Given the description of an element on the screen output the (x, y) to click on. 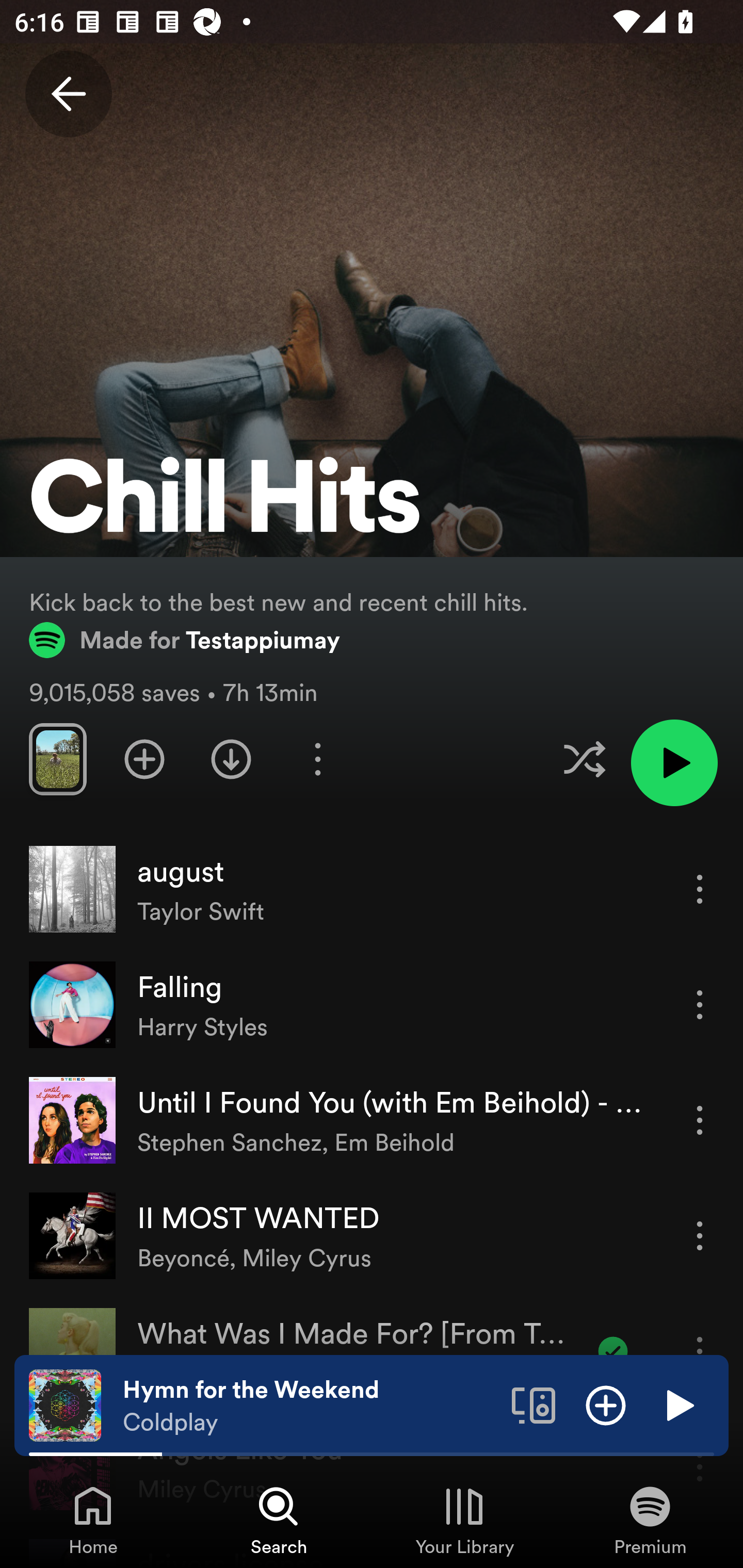
Back (68, 93)
Made for Testappiumay (184, 640)
Swipe through previews of tracks in this playlist. (57, 759)
Add playlist to Your Library (144, 759)
Download (230, 759)
More options for playlist Chill Hits (317, 759)
Enable shuffle for this playlist (583, 759)
Play playlist (674, 762)
august Taylor Swift More options for song august (371, 889)
More options for song august (699, 888)
Falling Harry Styles More options for song Falling (371, 1005)
More options for song Falling (699, 1004)
More options for song II MOST WANTED (699, 1236)
Hymn for the Weekend Coldplay (309, 1405)
The cover art of the currently playing track (64, 1404)
Connect to a device. Opens the devices menu (533, 1404)
Add item (605, 1404)
Play (677, 1404)
Home, Tab 1 of 4 Home Home (92, 1519)
Search, Tab 2 of 4 Search Search (278, 1519)
Your Library, Tab 3 of 4 Your Library Your Library (464, 1519)
Premium, Tab 4 of 4 Premium Premium (650, 1519)
